Given the description of an element on the screen output the (x, y) to click on. 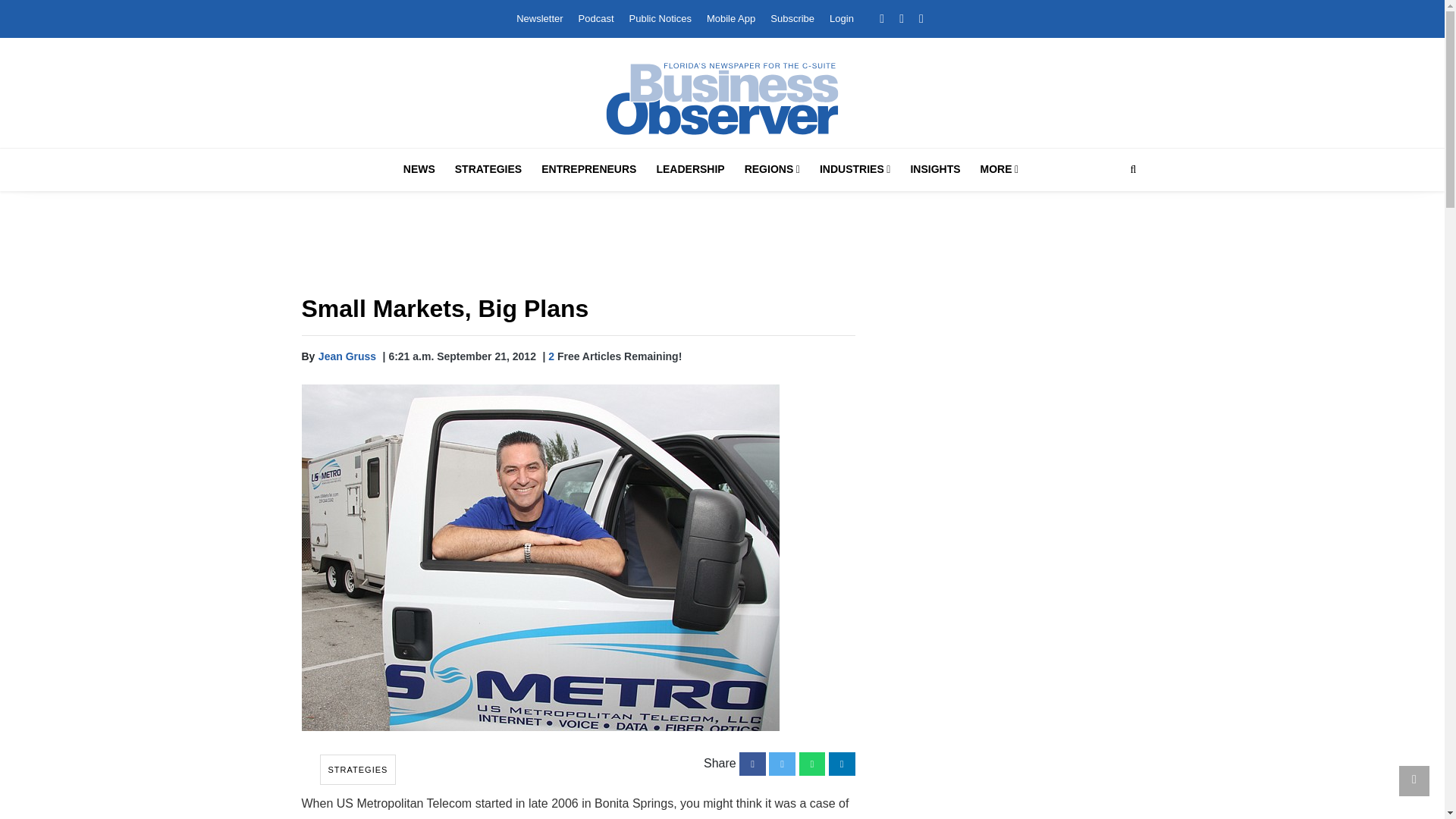
3rd party ad content (1010, 612)
INSIGHTS (935, 169)
Newsletter (539, 18)
Mobile App (730, 18)
NEWS (419, 169)
Public Notices (659, 18)
MORE (999, 169)
Podcast (596, 18)
REGIONS (772, 169)
Login (841, 18)
3rd party ad content (1010, 400)
Subscribe (791, 18)
3rd party ad content (722, 246)
3rd party ad content (1010, 774)
INDUSTRIES (855, 169)
